Given the description of an element on the screen output the (x, y) to click on. 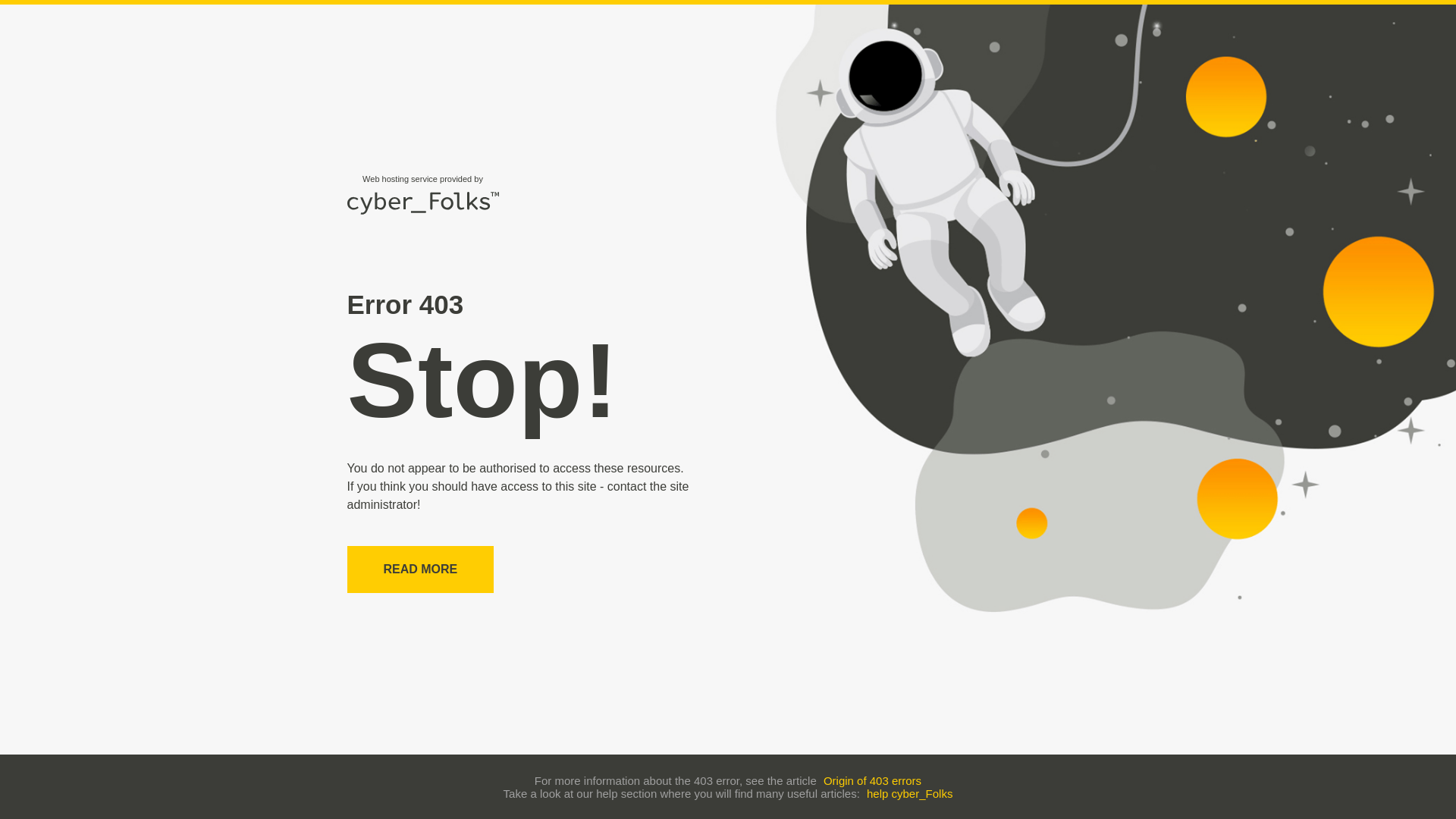
Origin of 403 errors (872, 779)
READ MORE (421, 569)
